Given the description of an element on the screen output the (x, y) to click on. 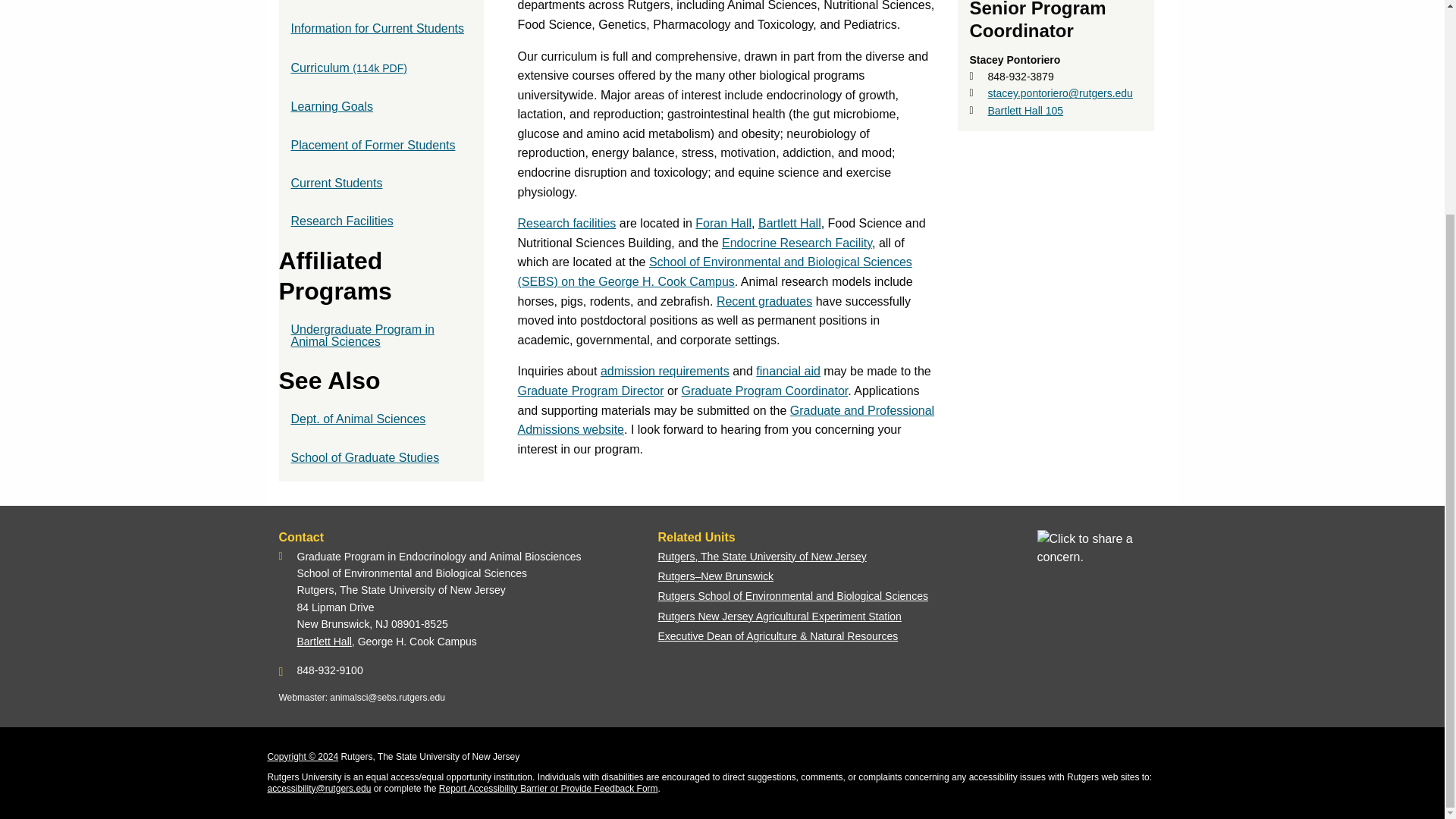
Bartlett Hall (789, 223)
Graduate Program Director (589, 390)
Research Facilities (381, 221)
Research facilities (565, 223)
School of Graduate Studies (381, 457)
Dept. of Animal Sciences (381, 419)
Graduate and Professional Admissions website (725, 420)
Bartlett Hall (324, 641)
Information for Prospective Students (381, 2)
Bartlett Hall 105 (1024, 110)
